Given the description of an element on the screen output the (x, y) to click on. 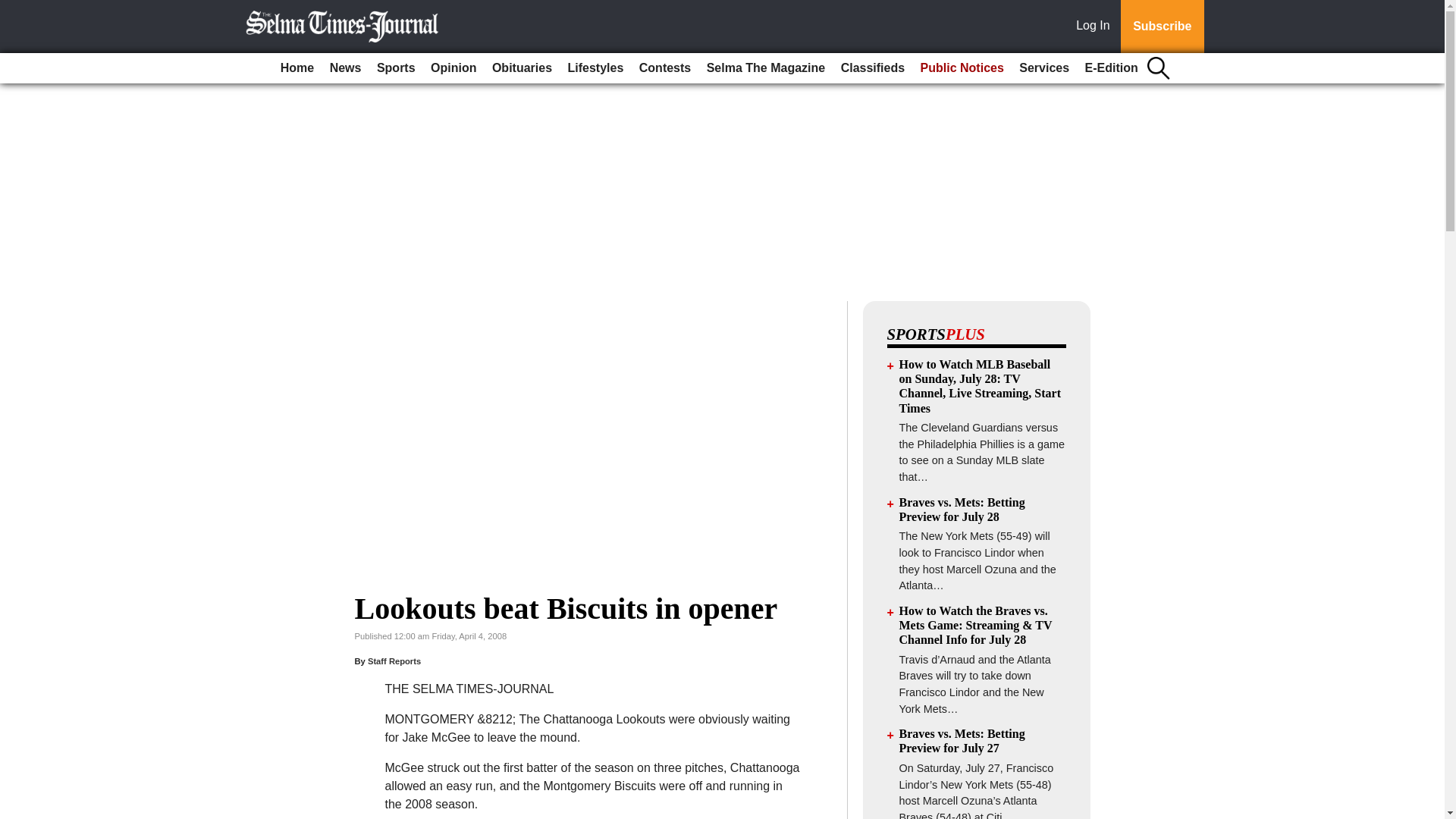
Braves vs. Mets: Betting Preview for July 27 (962, 740)
Subscribe (1162, 26)
Log In (1095, 26)
Services (1044, 68)
News (345, 68)
Home (297, 68)
Lifestyles (596, 68)
Selma The Magazine (765, 68)
Contests (665, 68)
Go (13, 9)
Public Notices (962, 68)
E-Edition (1111, 68)
Staff Reports (394, 660)
Sports (396, 68)
